Given the description of an element on the screen output the (x, y) to click on. 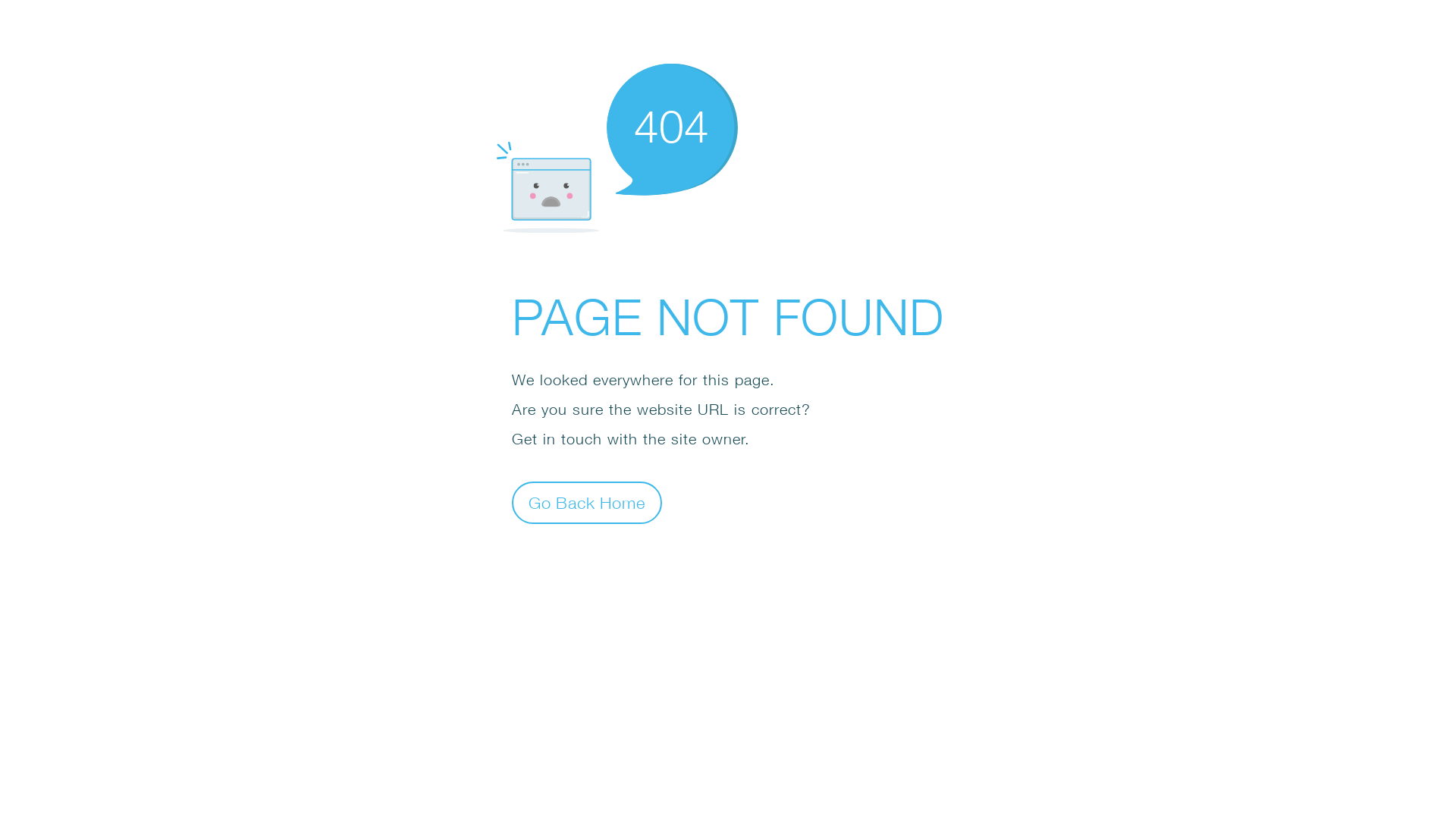
Go Back Home Element type: text (586, 502)
